Given the description of an element on the screen output the (x, y) to click on. 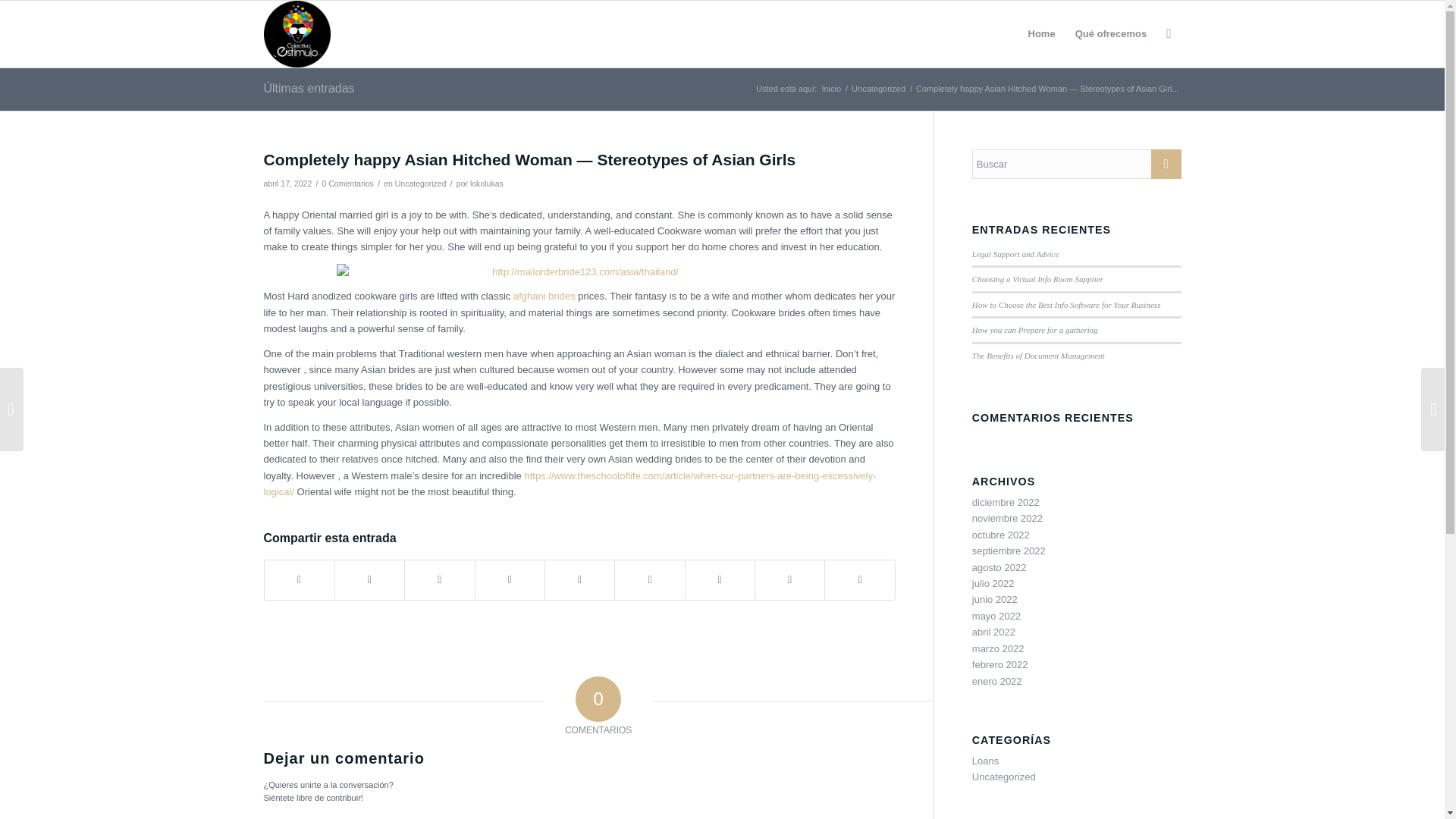
How you can Prepare for a gathering (1034, 329)
noviembre 2022 (1007, 518)
How to Choose the Best Info Software for Your Business (1066, 304)
septiembre 2022 (1008, 550)
0 Comentarios (346, 183)
Colectivo Estimulo (830, 89)
Legal Support and Advice (1015, 253)
Inicio (830, 89)
The Benefits of Document Management (1038, 355)
octubre 2022 (1000, 534)
